Given the description of an element on the screen output the (x, y) to click on. 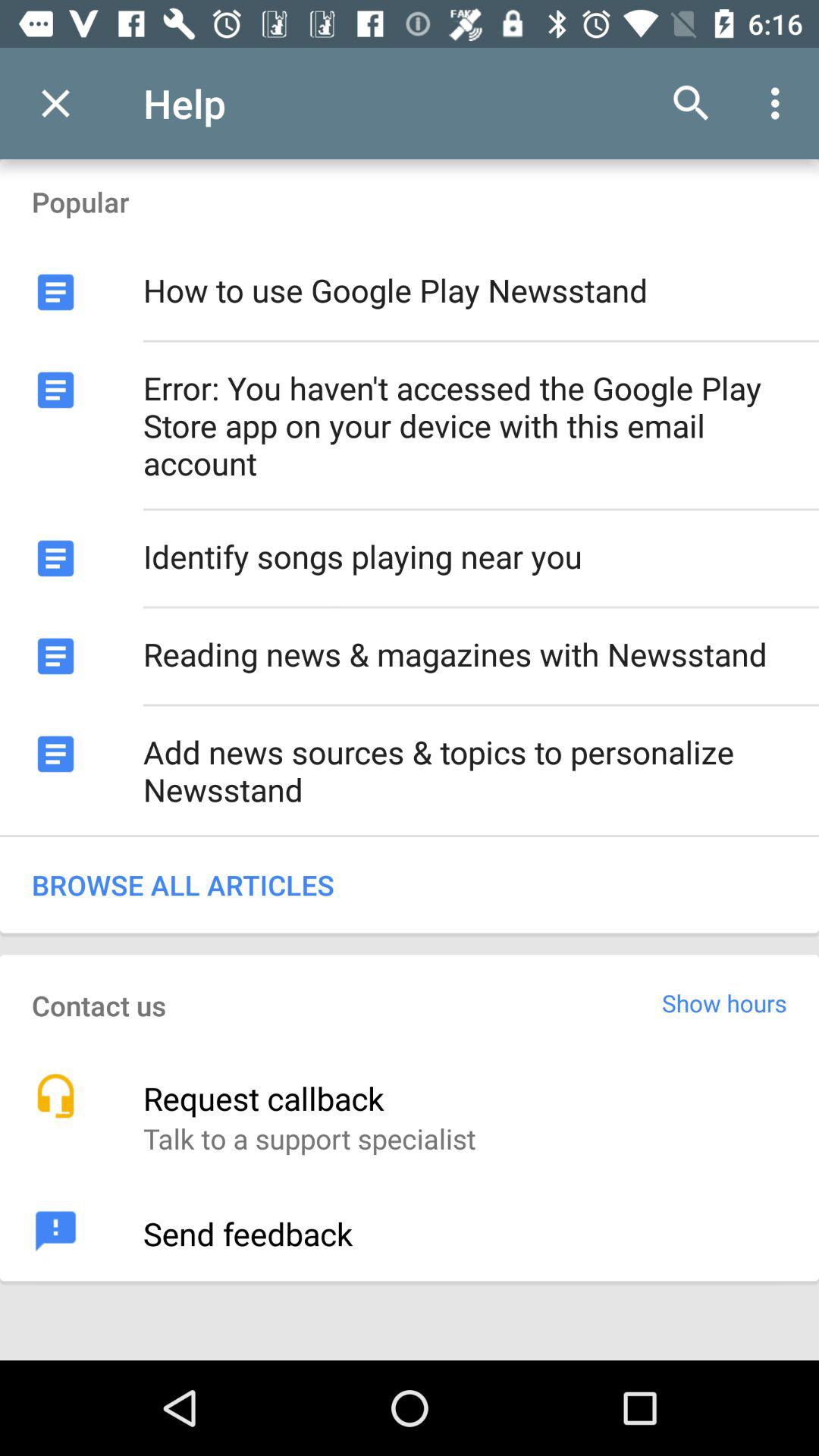
jump until the browse all articles item (409, 884)
